Given the description of an element on the screen output the (x, y) to click on. 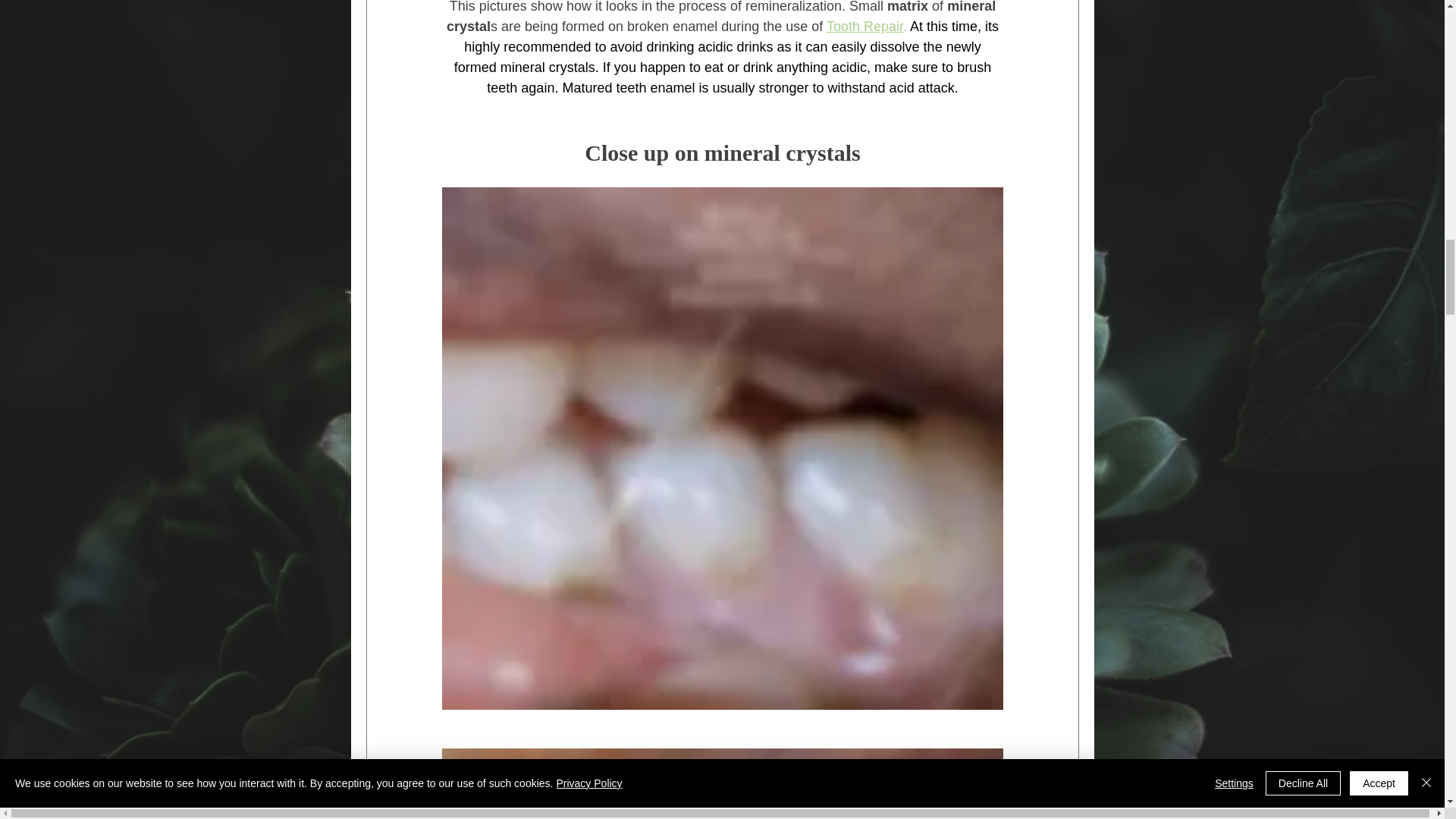
Tooth Repair (863, 27)
